Given the description of an element on the screen output the (x, y) to click on. 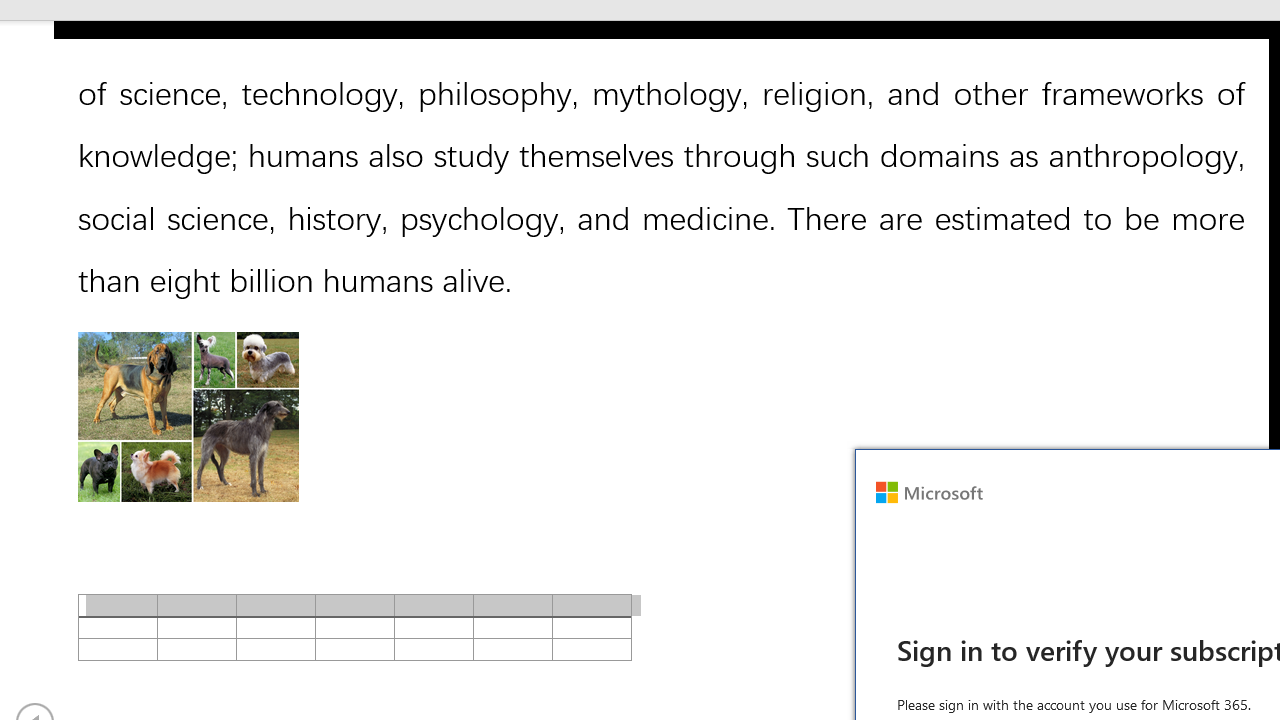
Morphological variation in six dogs (188, 416)
